Given the description of an element on the screen output the (x, y) to click on. 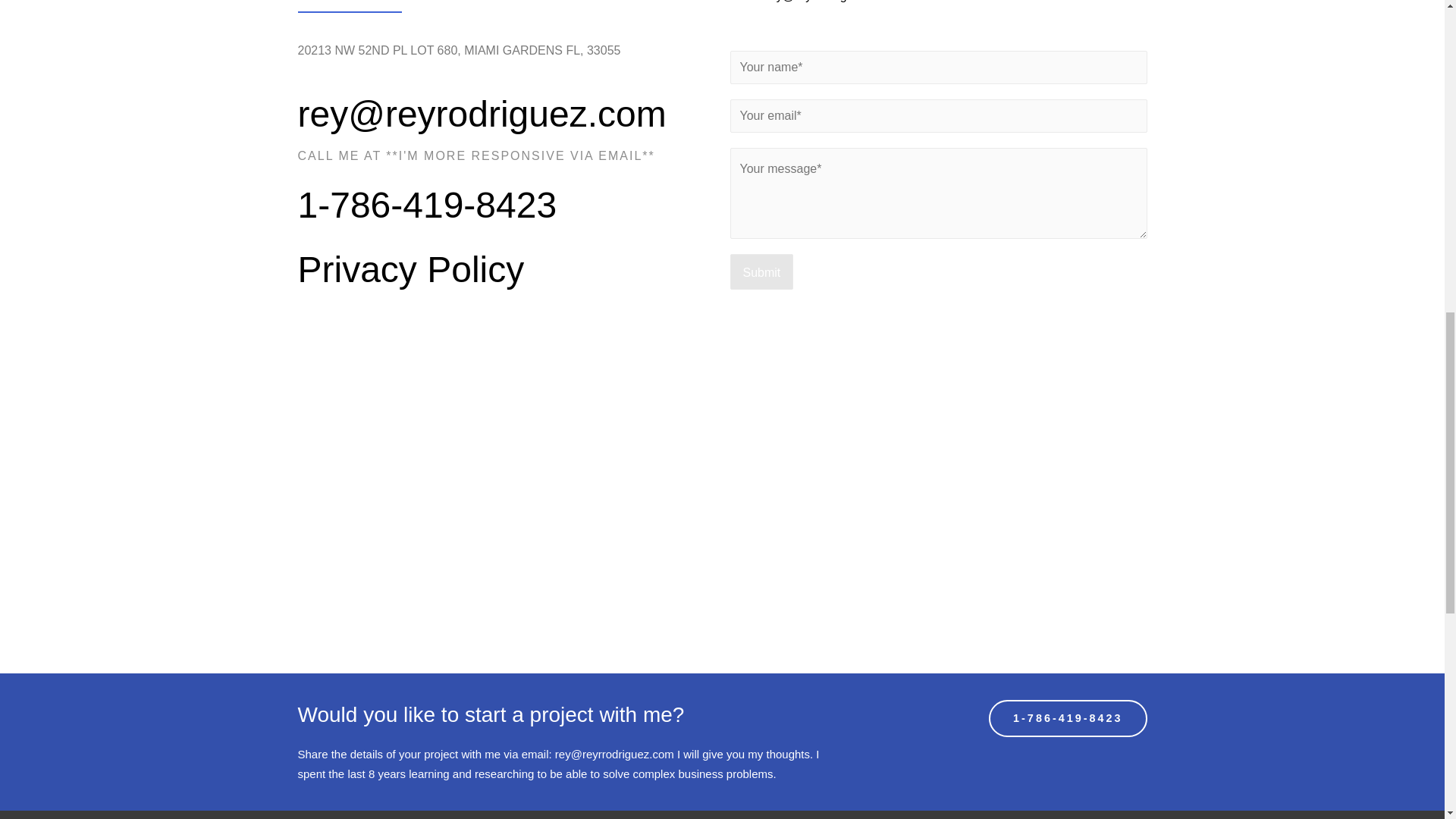
Submit (761, 271)
Privacy Policy (410, 269)
1-786-419-8423 (1067, 718)
